Given the description of an element on the screen output the (x, y) to click on. 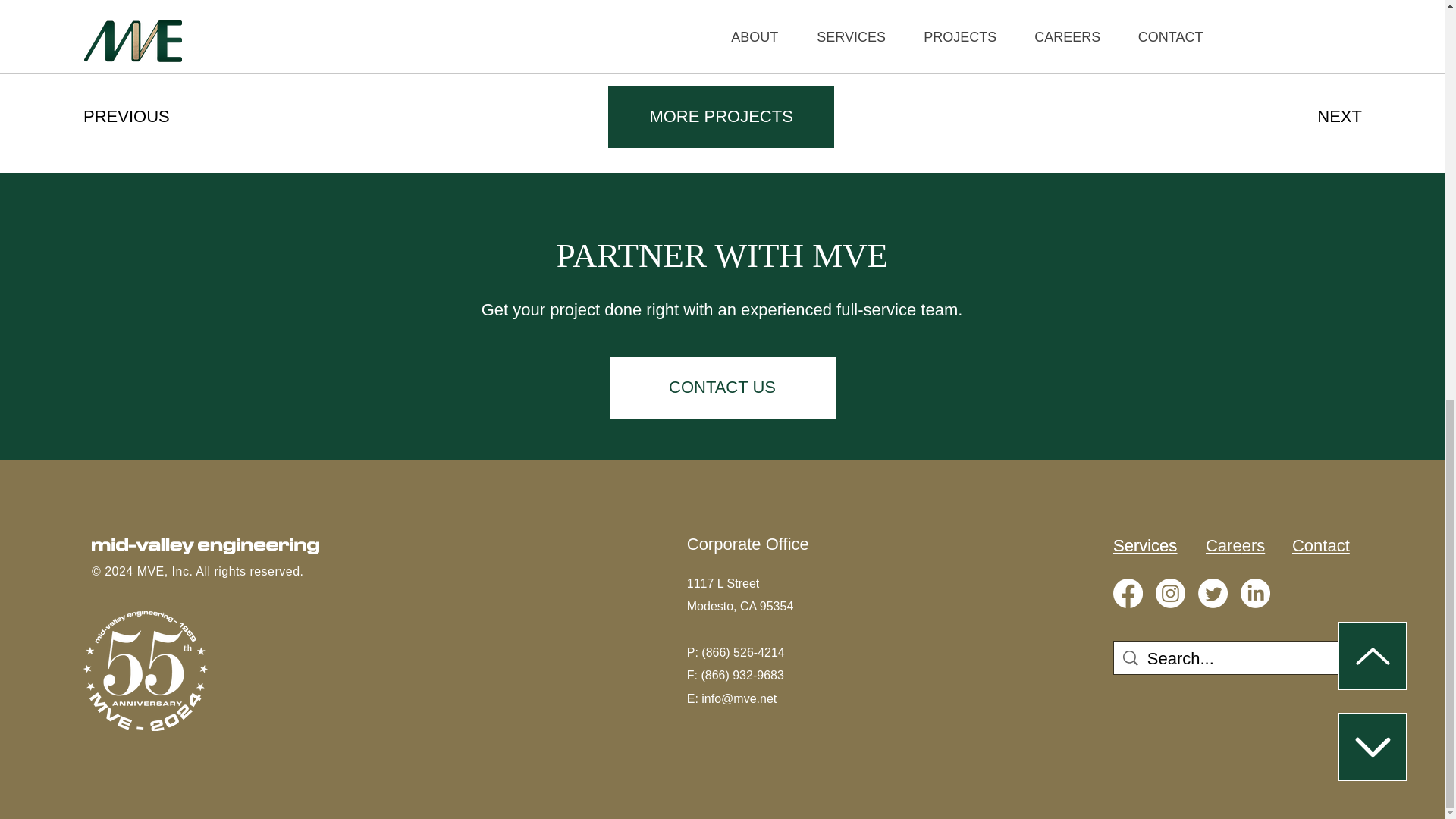
Careers (1235, 545)
MORE PROJECTS (721, 116)
Services (1144, 545)
Contact (1320, 545)
CONTACT US (722, 388)
PREVIOUS (137, 116)
mve-single-line-wordmark.png (204, 546)
NEXT (1311, 116)
